Given the description of an element on the screen output the (x, y) to click on. 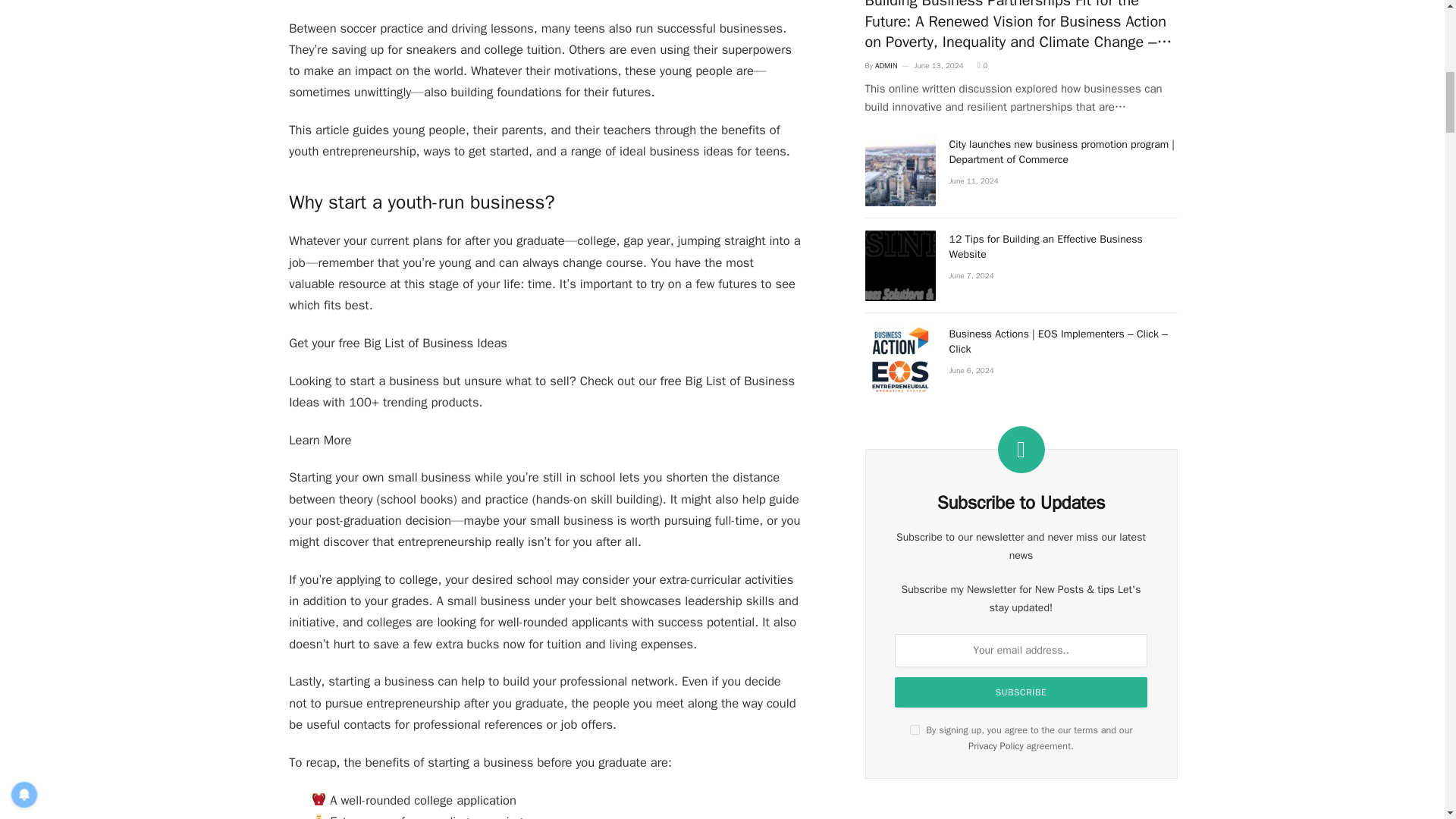
on (915, 729)
Subscribe (1021, 692)
